Given the description of an element on the screen output the (x, y) to click on. 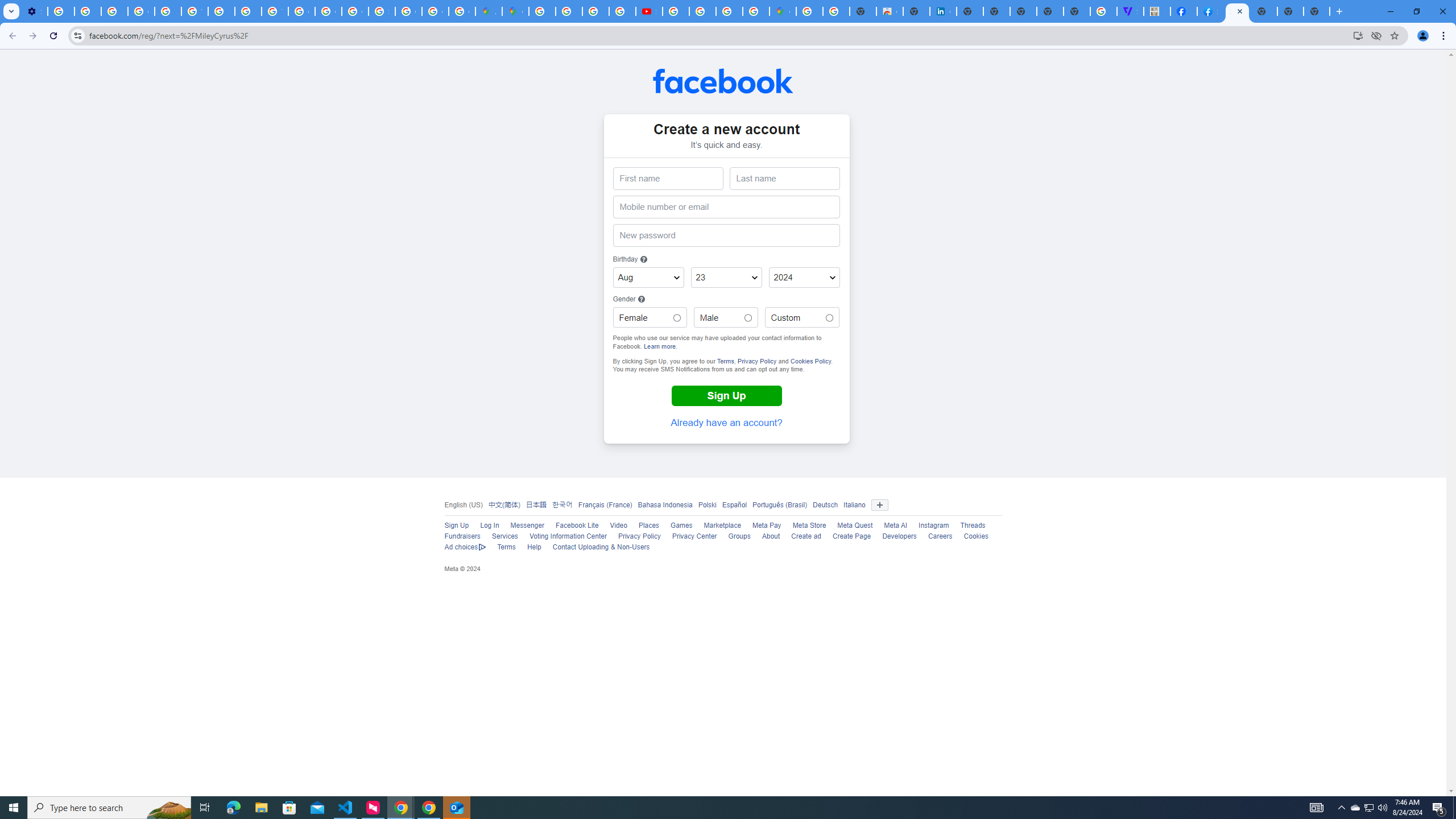
About (770, 536)
New password (726, 235)
Already have an account? (727, 423)
MILEY CYRUS. (1156, 11)
Third-party cookies blocked (1376, 35)
Privacy Center (694, 536)
How Chrome protects your passwords - Google Chrome Help (676, 11)
View site information (77, 35)
Create Page (850, 536)
Threads (972, 525)
Learn more (659, 345)
